Given the description of an element on the screen output the (x, y) to click on. 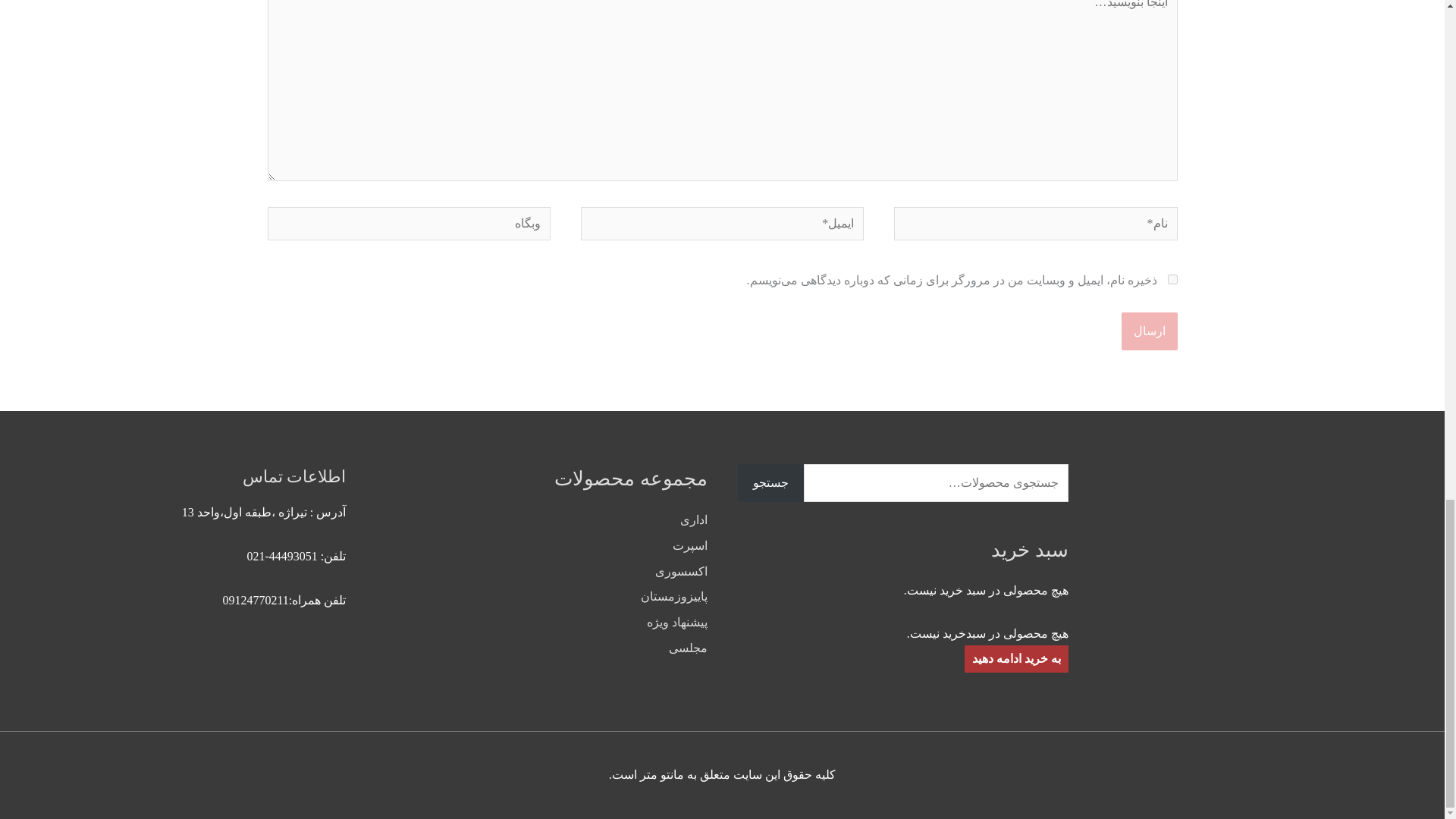
yes (1172, 279)
